Given the description of an element on the screen output the (x, y) to click on. 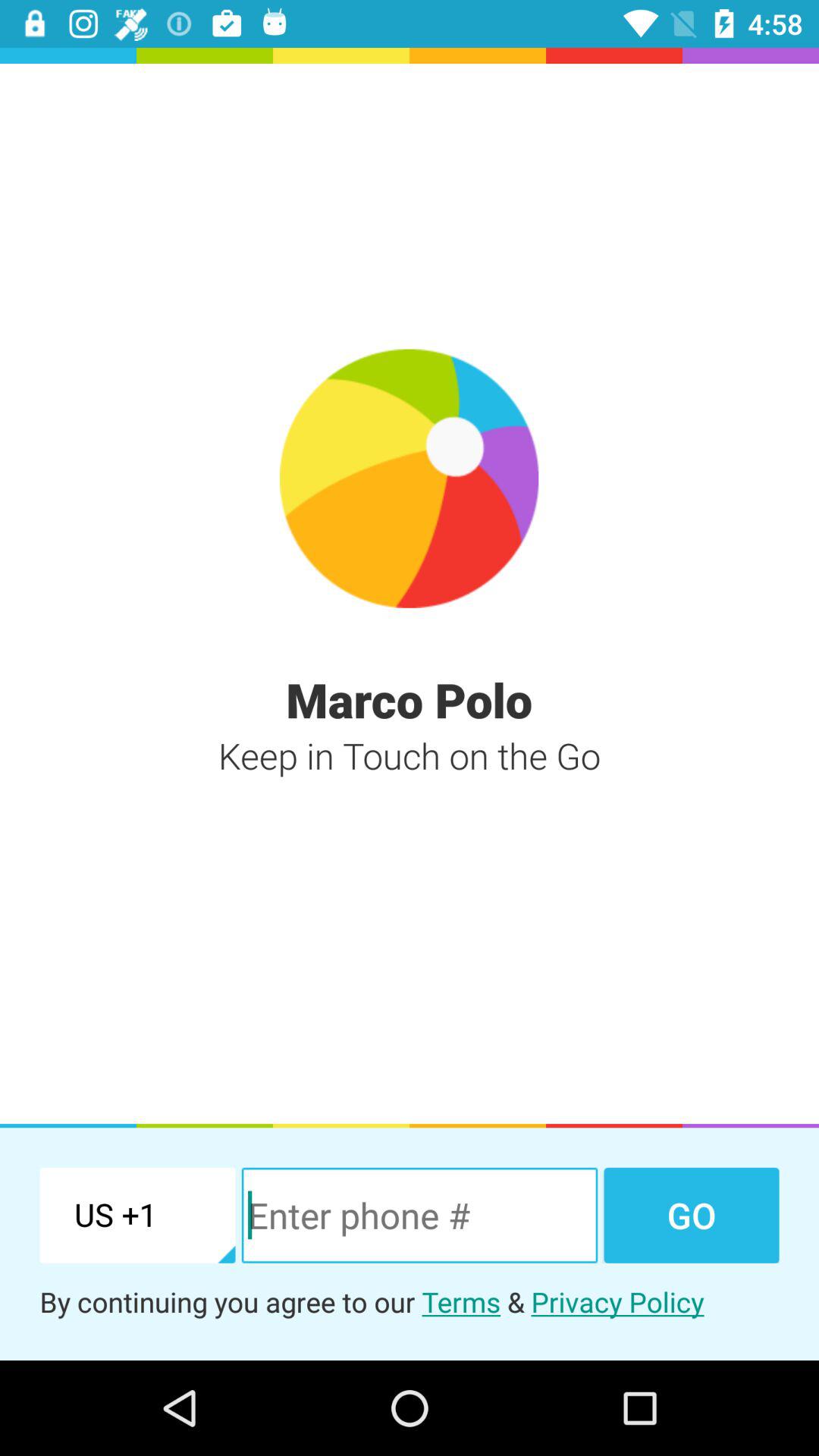
flip to the by continuing you icon (409, 1301)
